Given the description of an element on the screen output the (x, y) to click on. 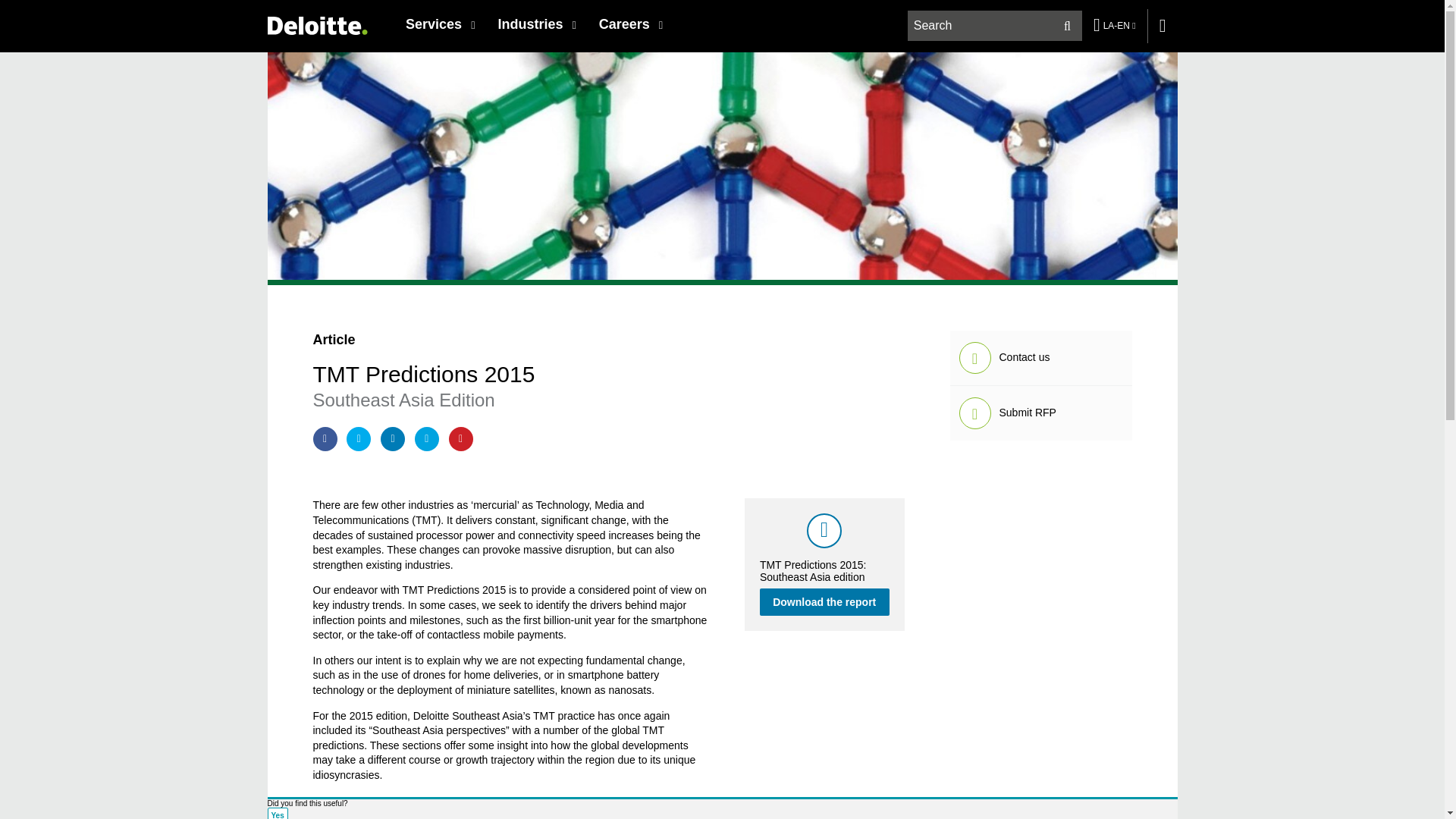
Industries (536, 24)
Share via... (426, 438)
Share via... (358, 438)
search (995, 25)
Deloitte Lao PDR (316, 25)
Share via... (392, 438)
Share via... (324, 438)
Share via... (460, 438)
Services (440, 24)
Search (1066, 25)
